Given the description of an element on the screen output the (x, y) to click on. 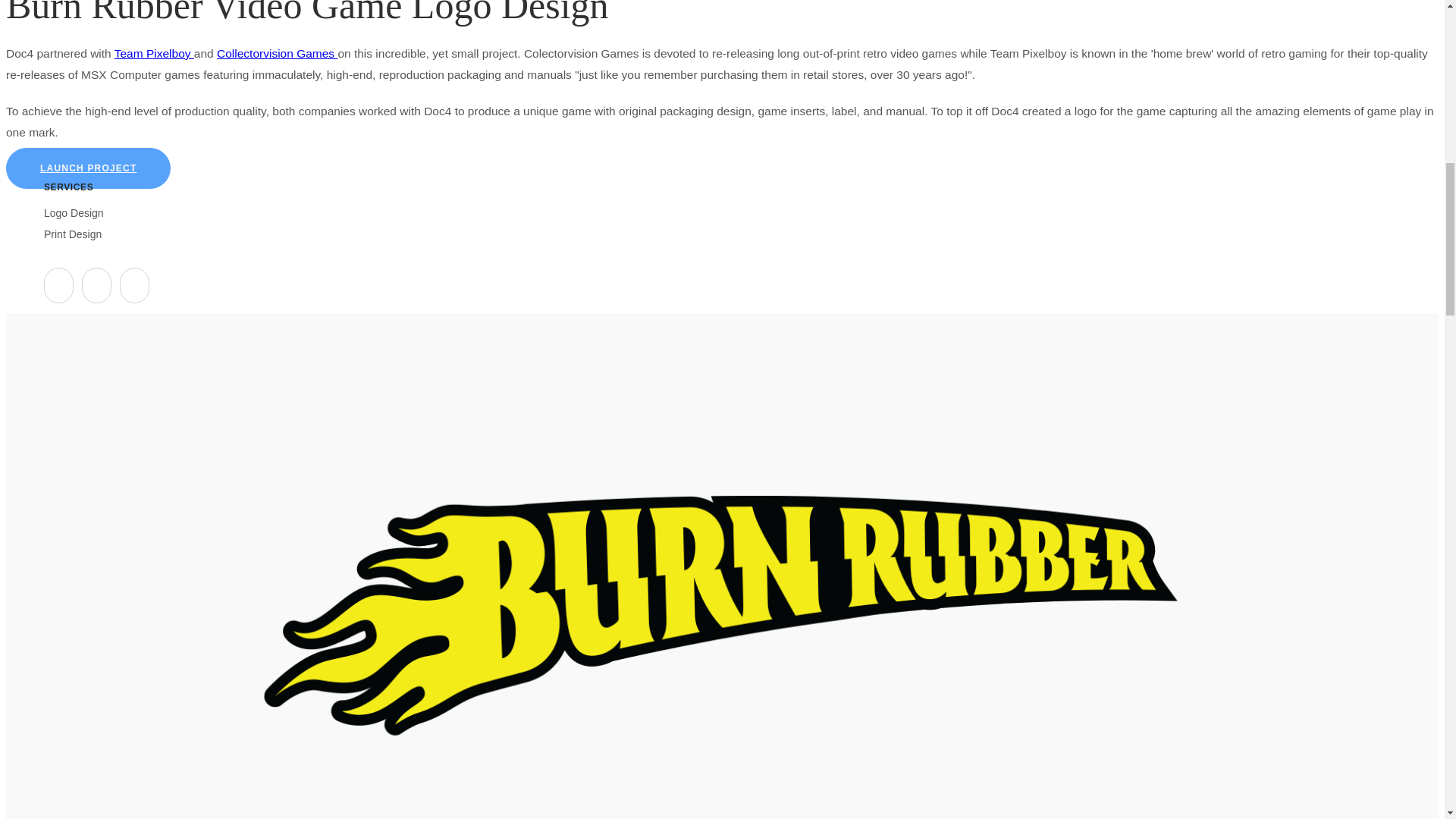
Team Pixelboy (154, 52)
Collectorvision Games (276, 52)
LAUNCH PROJECT (87, 168)
